Given the description of an element on the screen output the (x, y) to click on. 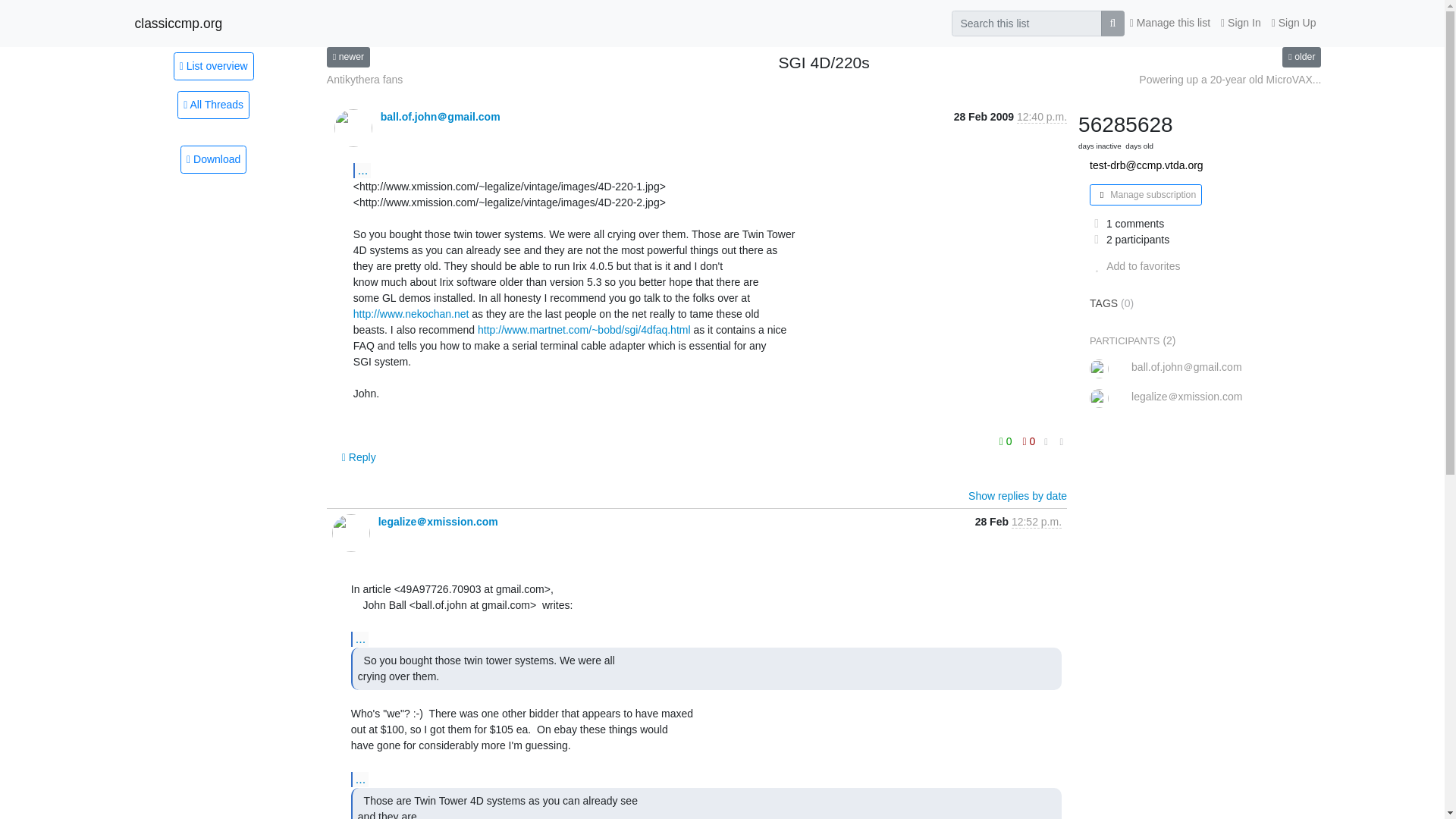
Sign In (1240, 22)
Powering up a 20-year old MicroVAX... (1229, 79)
older (1301, 56)
Sender's time: Feb. 28, 2009, 9:40 a.m. (1041, 116)
Manage this list (1169, 22)
You must be logged-in to have favorites. (1134, 265)
Powering up a 20-year old MicroVAX II (1301, 56)
Sender's time: Feb. 28, 2009, 10:52 a.m. (1036, 521)
Powering up a 20-year old MicroVAX II (1229, 79)
All Threads (212, 104)
Download (213, 159)
This thread in gzipped mbox format (213, 159)
You must be logged-in to vote. (1007, 441)
You must be logged-in to vote. (1029, 441)
Antikythera fans (364, 79)
